Given the description of an element on the screen output the (x, y) to click on. 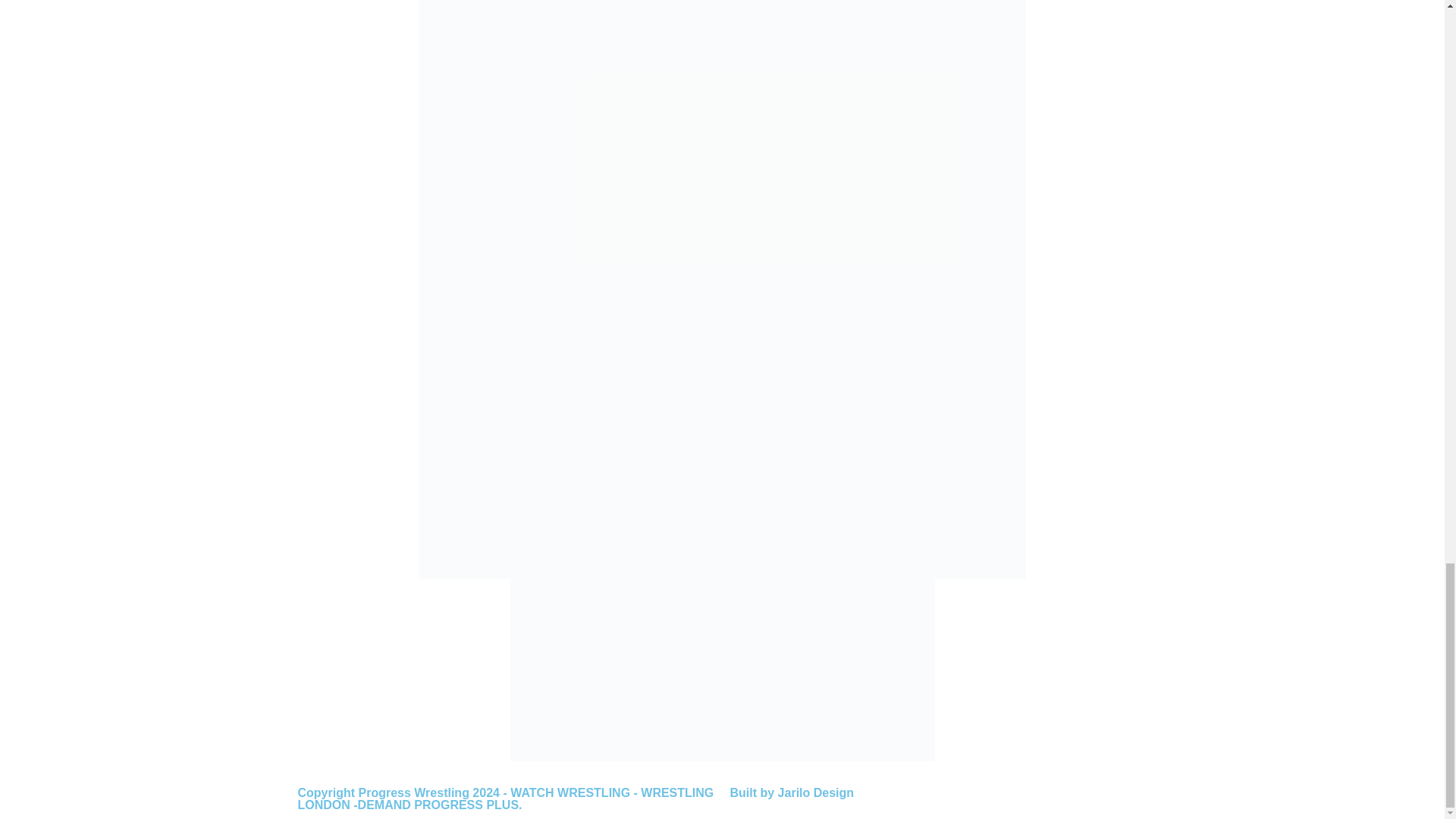
merch - PROGRESS Wrestling - Watch on Demand PROGRESS PLUS (721, 670)
